Given the description of an element on the screen output the (x, y) to click on. 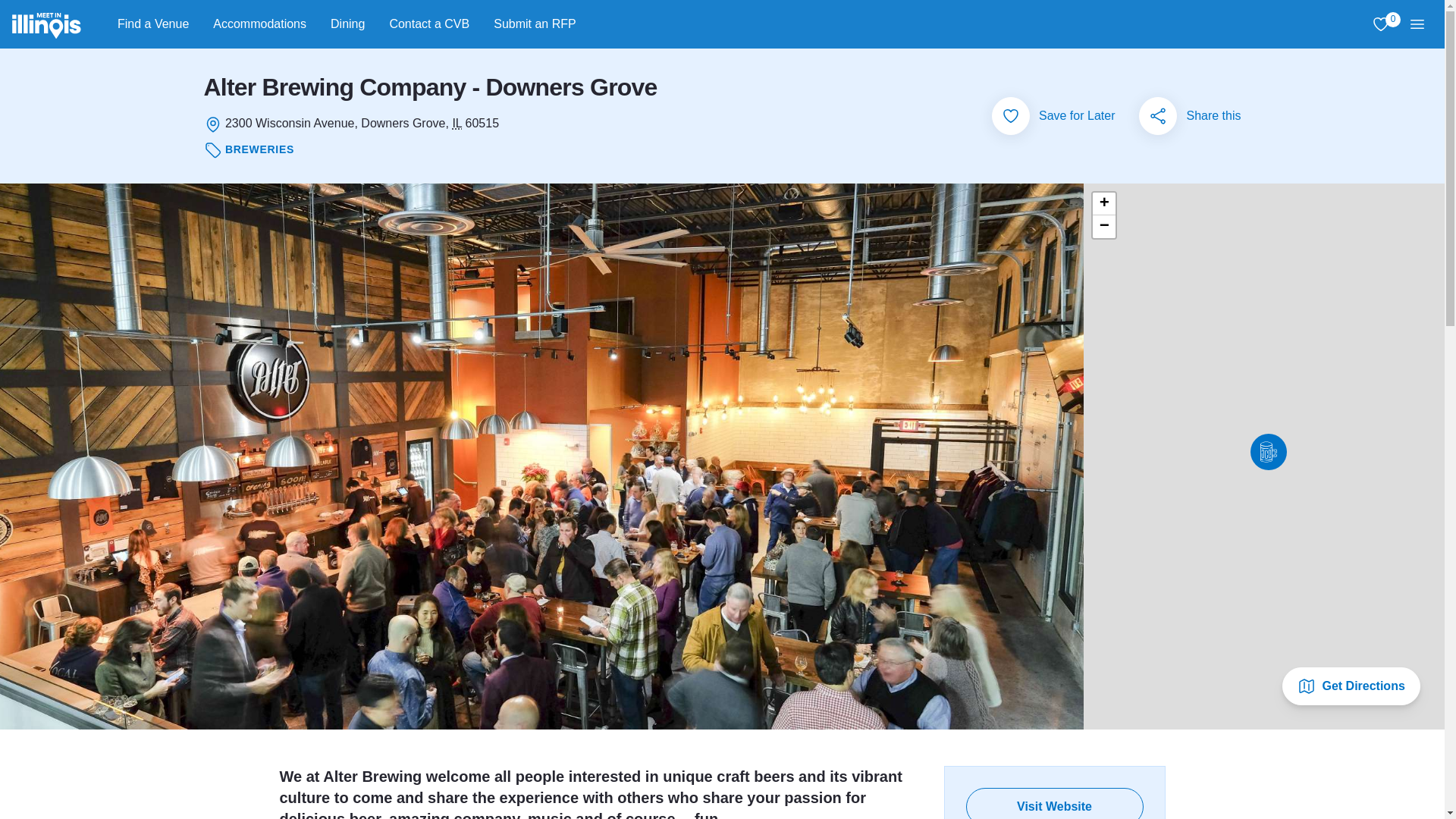
Get Directions (1351, 686)
Dining (347, 24)
Accommodations (259, 24)
Zoom out (1104, 226)
Contact a CVB (429, 24)
Add to Favorites (1380, 24)
Submit an RFP (1010, 116)
Menu (534, 24)
Find a Venue (1417, 24)
Zoom in (152, 24)
